Given the description of an element on the screen output the (x, y) to click on. 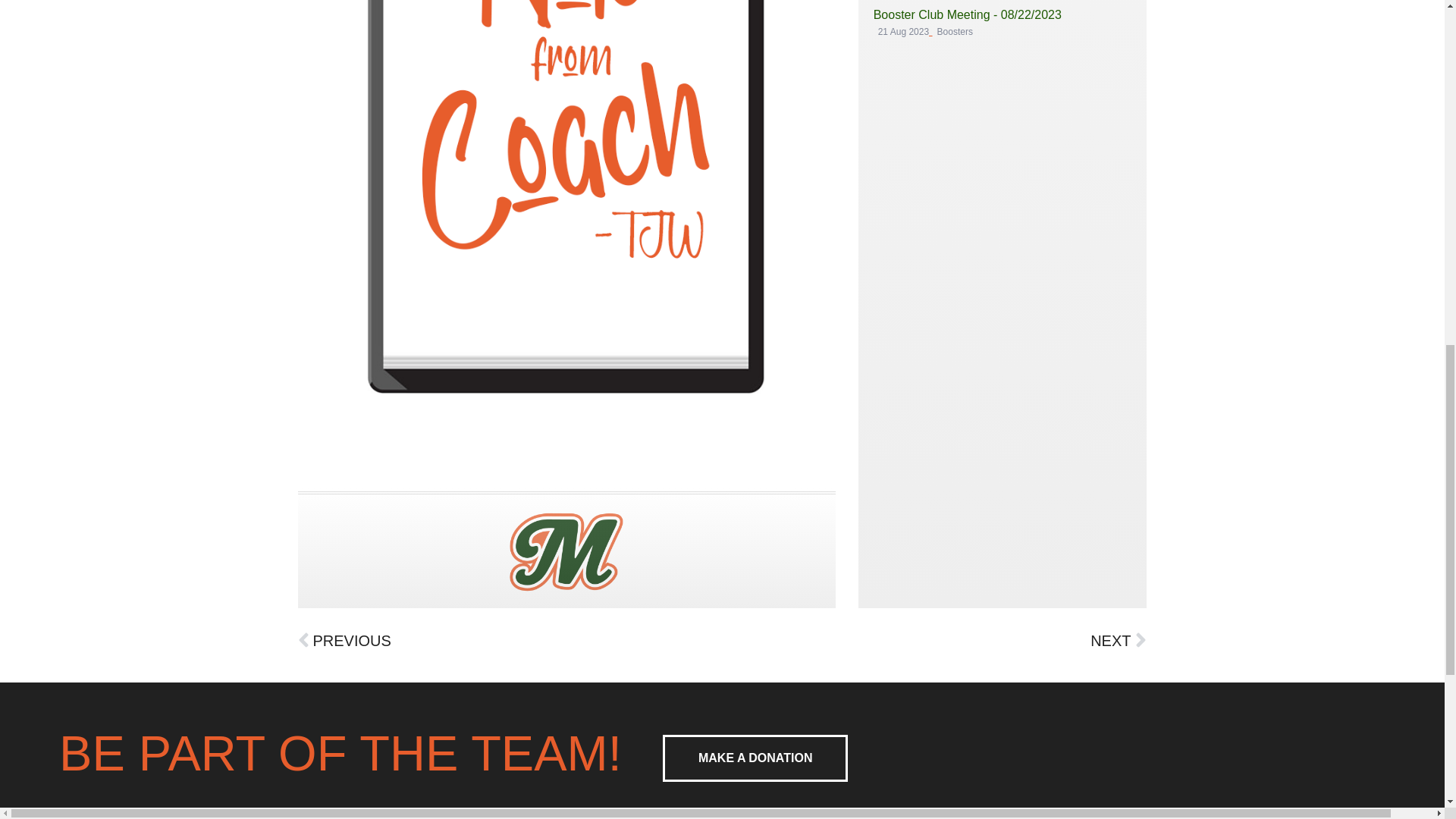
PREVIOUS (509, 640)
